Given the description of an element on the screen output the (x, y) to click on. 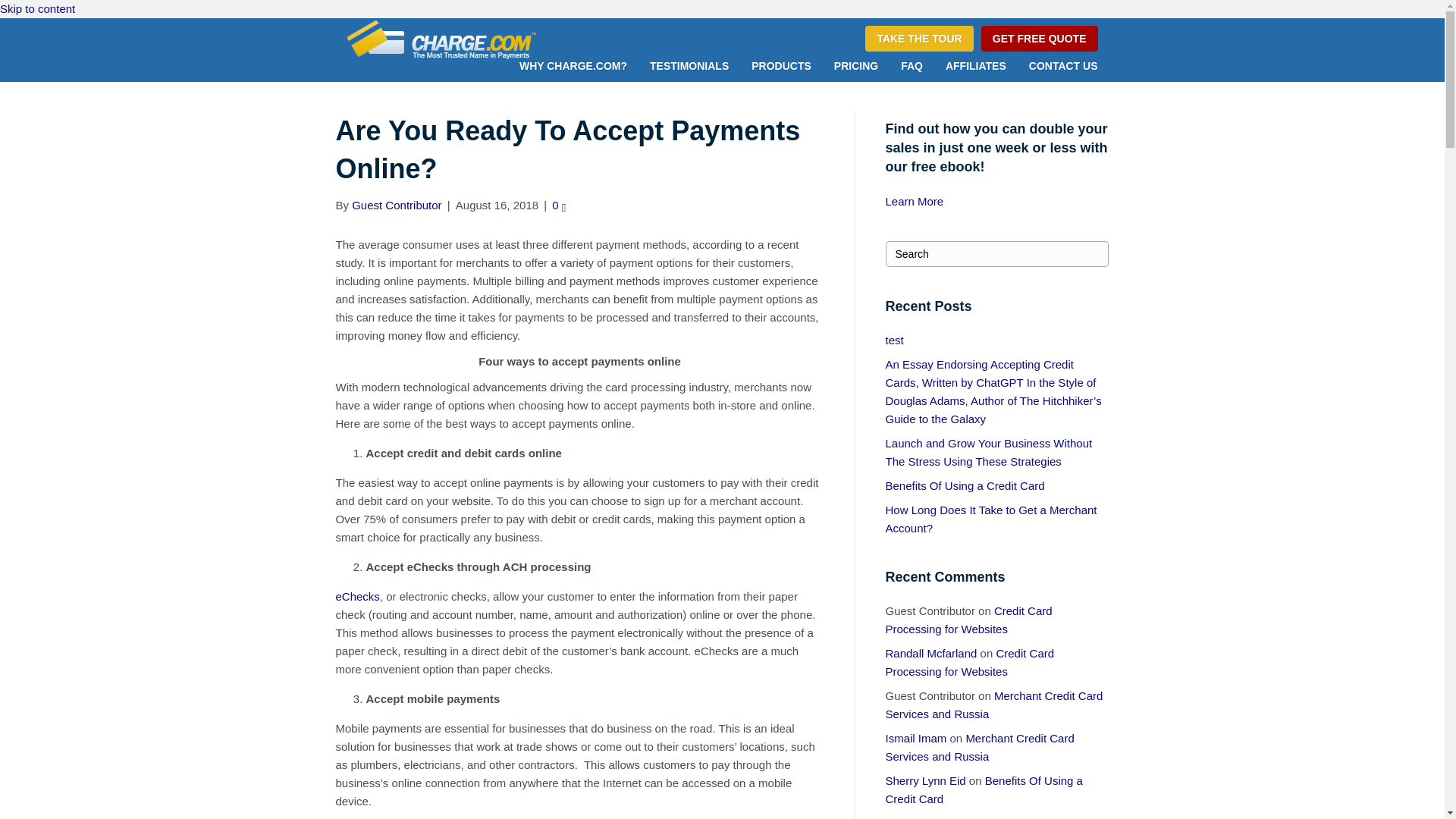
TESTIMONIALS (689, 66)
Take the Tour (918, 38)
Learn More (914, 201)
FAQ (911, 66)
0 (558, 205)
Guest Contributor (396, 205)
PRODUCTS (780, 66)
Skip to content (37, 8)
CONTACT US (1063, 66)
eChecks (356, 595)
GET FREE QUOTE (1039, 38)
test (894, 339)
WHY CHARGE.COM? (573, 66)
PRICING (855, 66)
TAKE THE TOUR (918, 38)
